Given the description of an element on the screen output the (x, y) to click on. 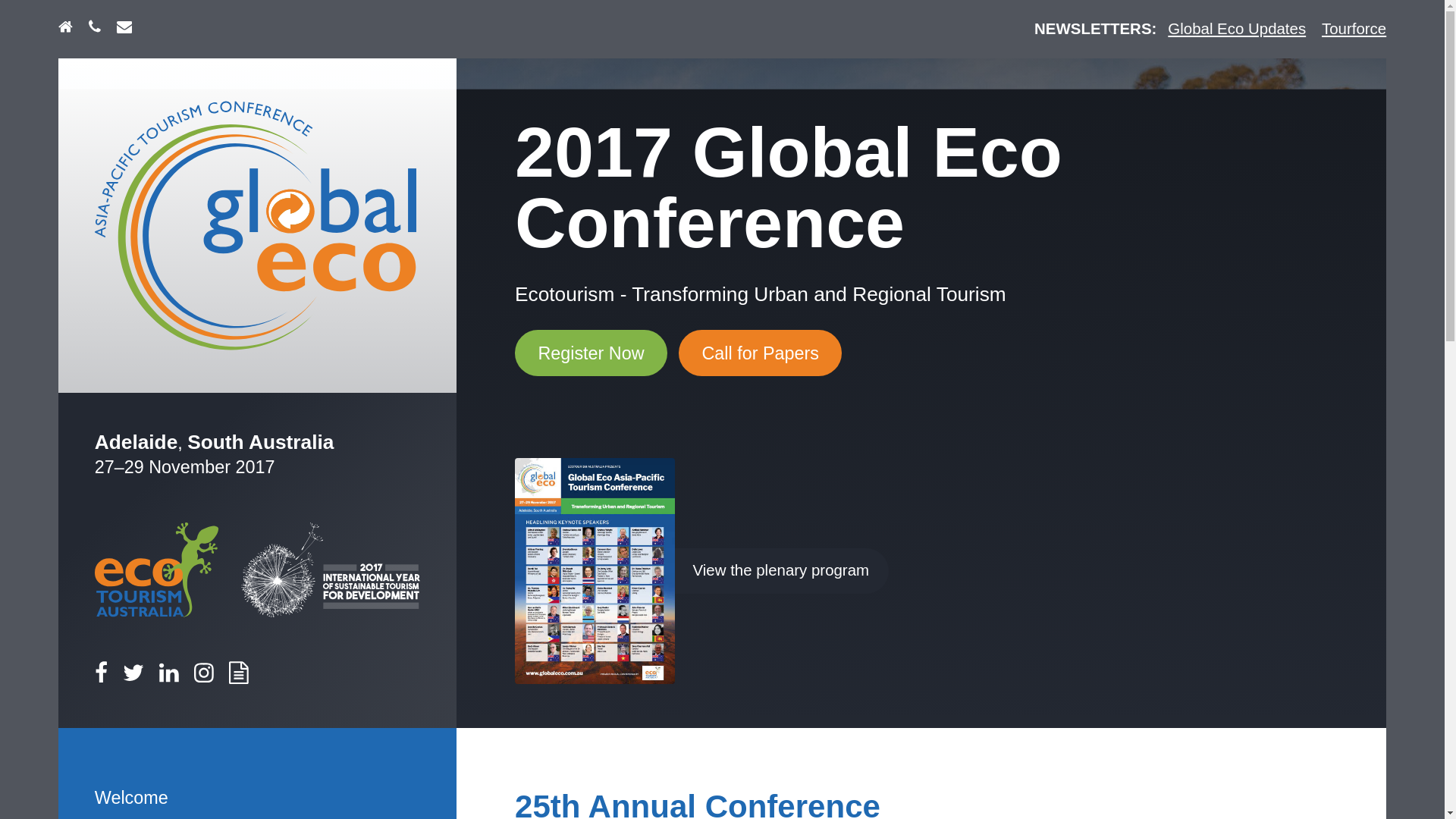
Tourforce Element type: text (1353, 28)
Linkedin Element type: text (168, 675)
Register Now Element type: text (590, 352)
info@globaleco.com.au Element type: text (123, 28)
View the plenary program Element type: text (701, 571)
Facebook Element type: text (101, 675)
Newsletter Element type: text (238, 675)
Global Eco Updates Element type: text (1236, 28)
Home Element type: text (65, 28)
Instagram Element type: text (203, 675)
+61 474 747 773 Element type: text (94, 28)
Twitter Element type: text (133, 675)
Call for Papers Element type: text (759, 352)
